Given the description of an element on the screen output the (x, y) to click on. 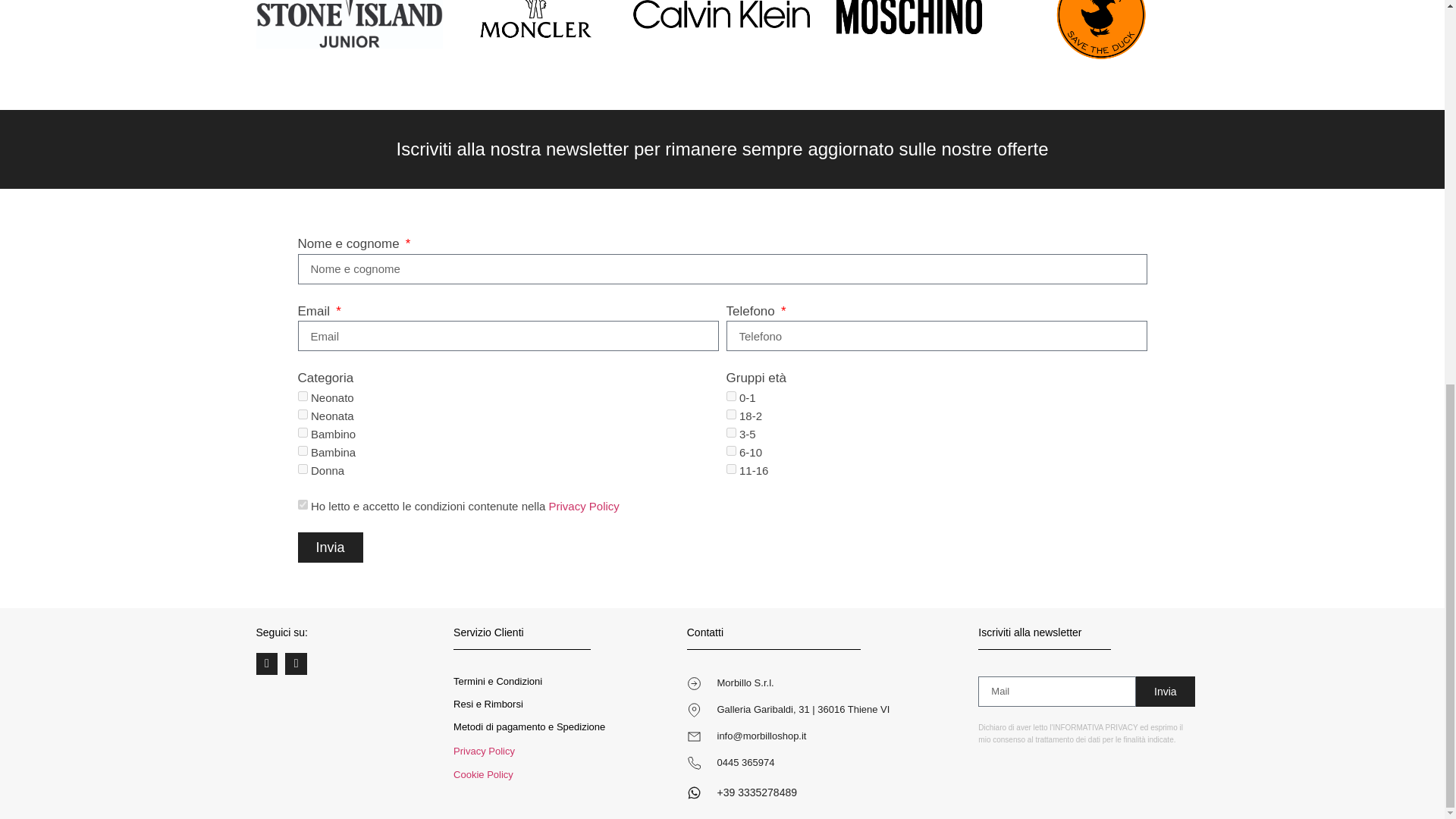
on (302, 504)
Privacy Policy  (483, 750)
Privacy Policy (483, 750)
Invia (329, 547)
Privacy Policy  (584, 505)
Cookie Policy  (482, 774)
Privacy Policy (584, 505)
Bambino (302, 432)
18-2 (731, 414)
Metodi di pagamento e Spedizione (528, 726)
Termini e Condizioni (496, 681)
3-5 (731, 432)
Bambina (302, 450)
11-16 (731, 469)
6-10 (731, 450)
